Given the description of an element on the screen output the (x, y) to click on. 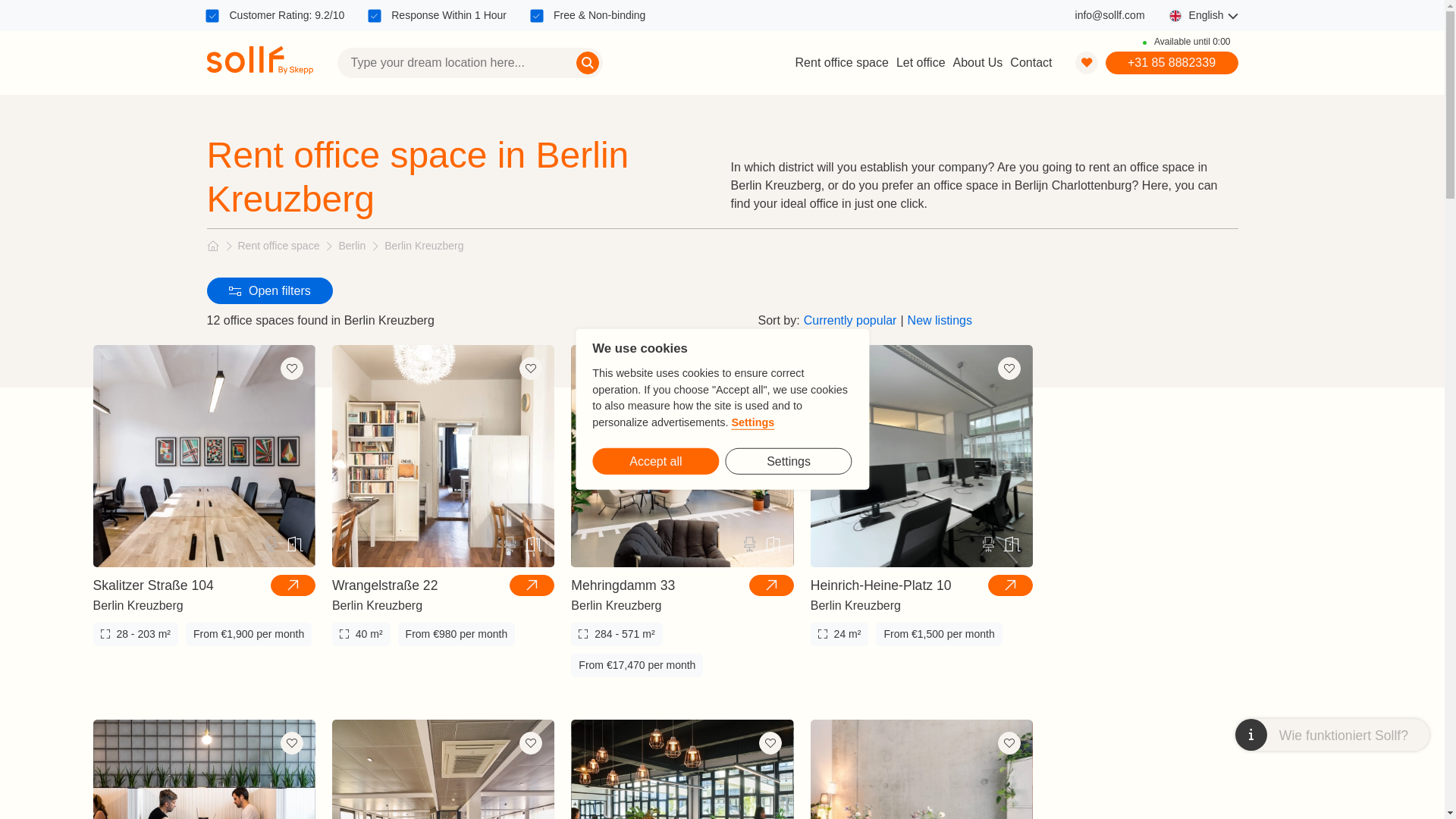
on (211, 15)
Mehringdamm 33 (622, 585)
Let office (920, 62)
Heinrich-Heine-Platz 10 (881, 585)
on (374, 15)
Rent office space (842, 62)
About Us (978, 62)
Contact (1030, 62)
Open filters (269, 290)
Rent office space (279, 245)
